Given the description of an element on the screen output the (x, y) to click on. 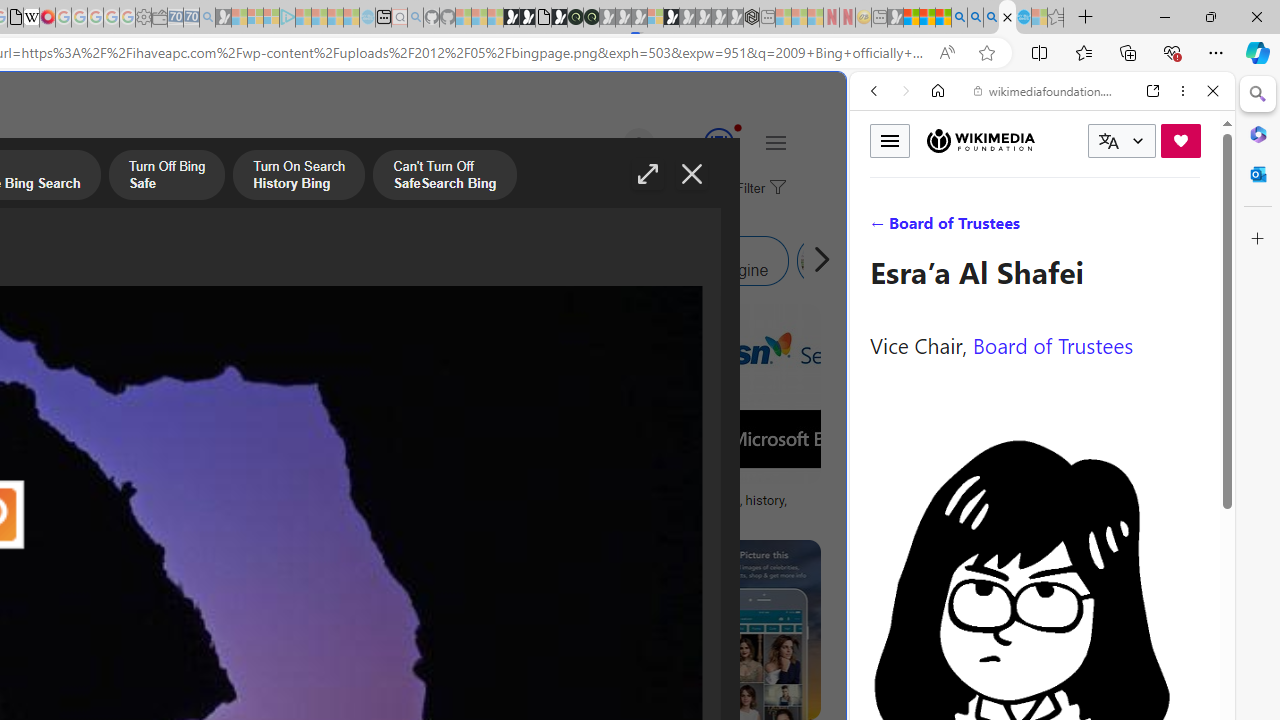
Future Focus Report 2024 (591, 17)
Cheap Car Rentals - Save70.com - Sleeping (191, 17)
Bing Image Search Similar Images (292, 260)
Play Zoo Boom in your browser | Games from Microsoft Start (527, 17)
Technology History timeline | Timetoast timelines (185, 508)
Donate now (1180, 140)
